Given the description of an element on the screen output the (x, y) to click on. 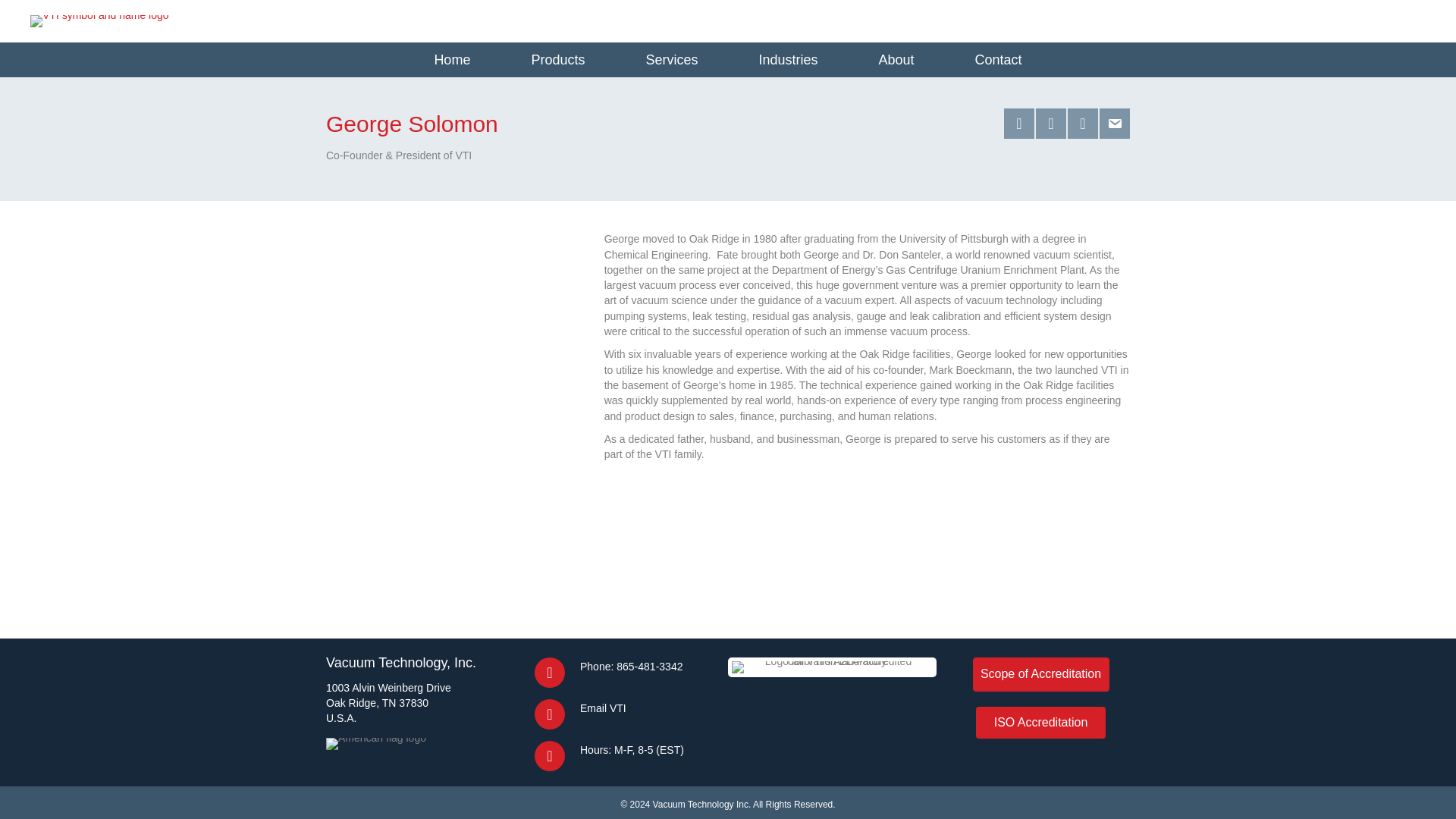
Click Here (1040, 674)
Services (671, 59)
Industries (787, 59)
Products (557, 59)
Home (451, 59)
Contact (998, 59)
About (896, 59)
VTI Main Site Logo (99, 21)
Click Here (1040, 722)
Logo of American Flag (376, 743)
